Given the description of an element on the screen output the (x, y) to click on. 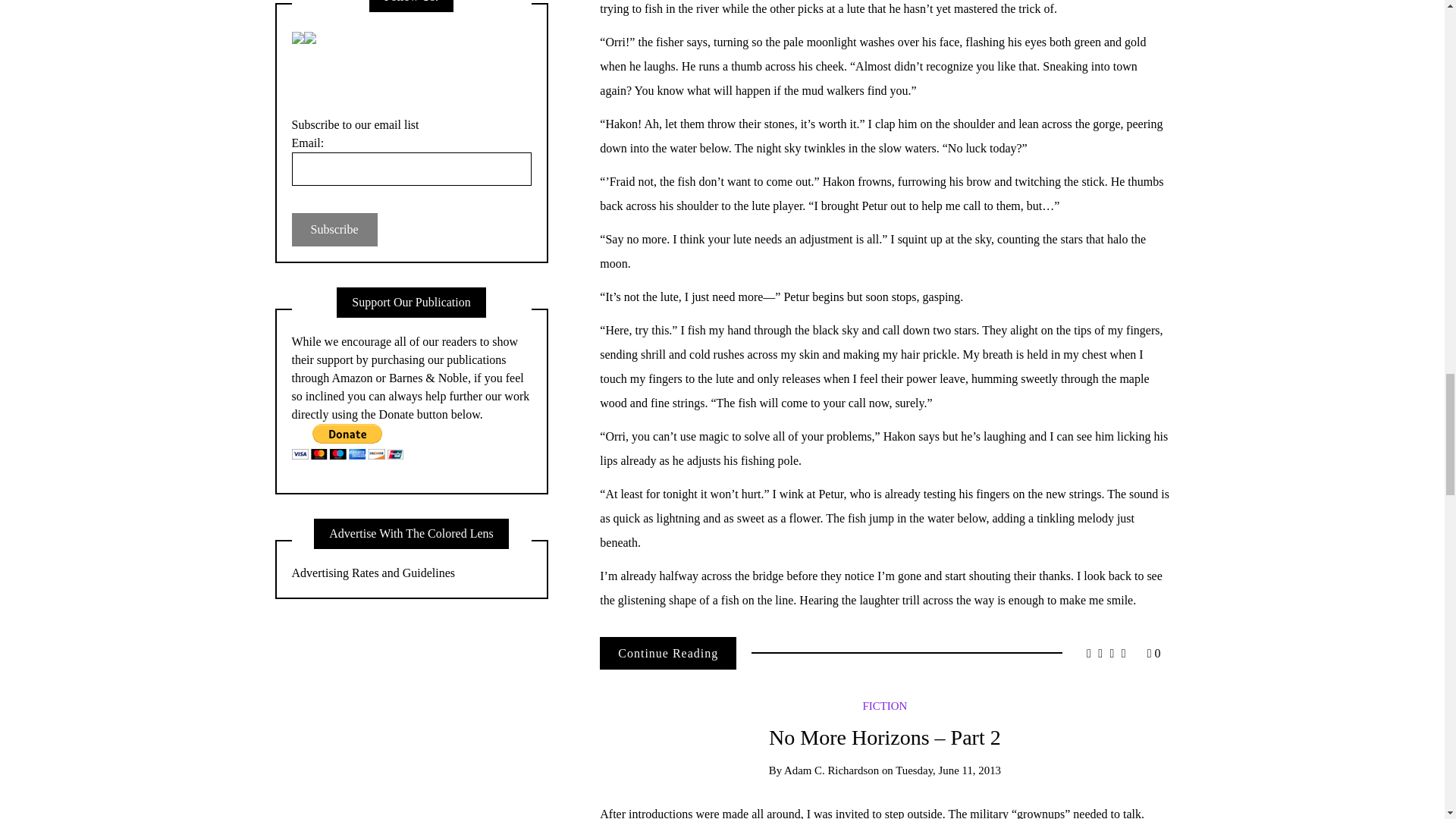
Continue Reading (667, 653)
Posts by Adam C. Richardson (831, 770)
0 (1153, 653)
Adam C. Richardson (831, 770)
FICTION (885, 705)
Subscribe (334, 229)
Tuesday, June 11, 2013 (948, 770)
The Wolf who Howls at the Hollow Moon (667, 653)
